Given the description of an element on the screen output the (x, y) to click on. 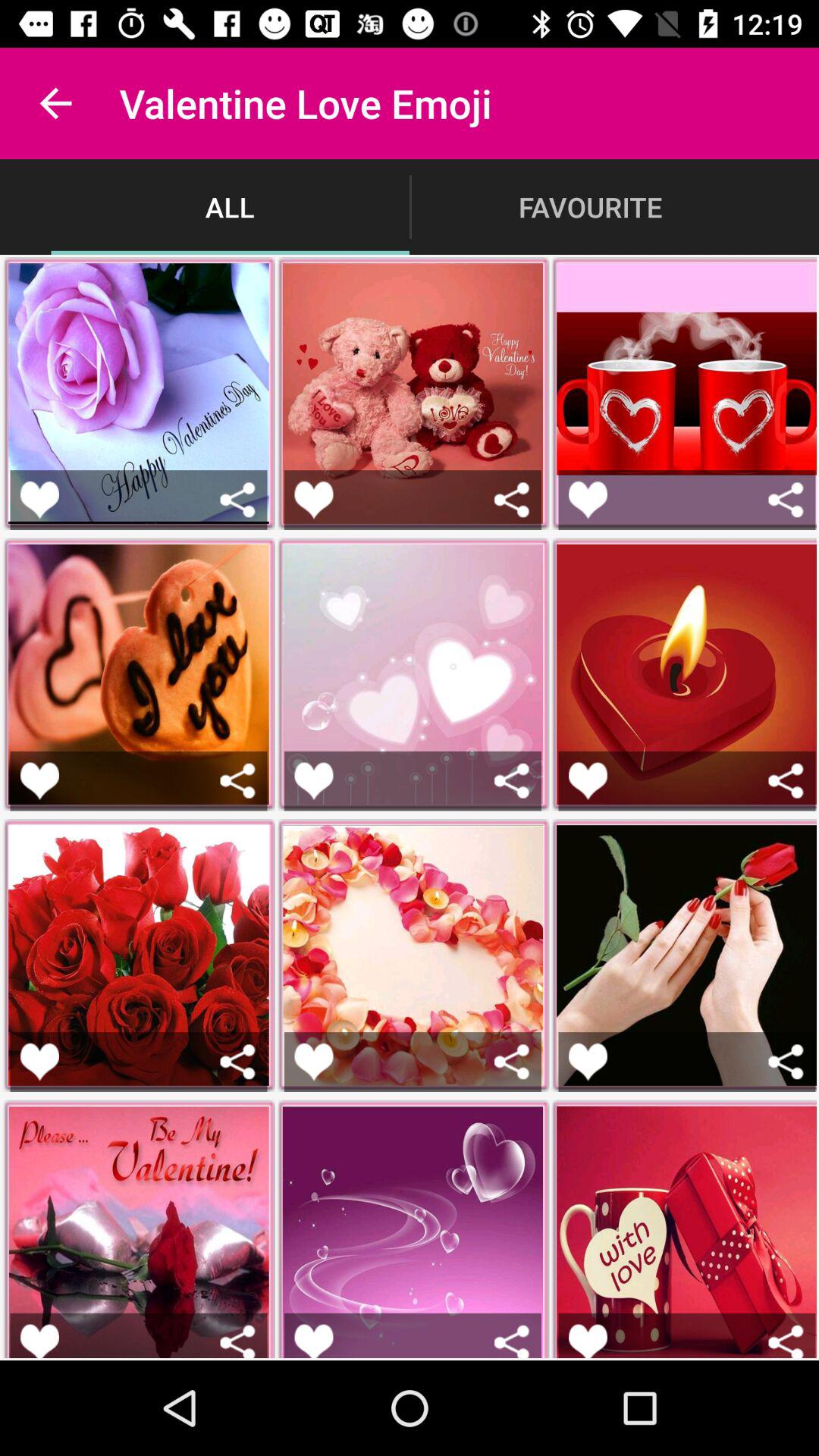
share (511, 780)
